Given the description of an element on the screen output the (x, y) to click on. 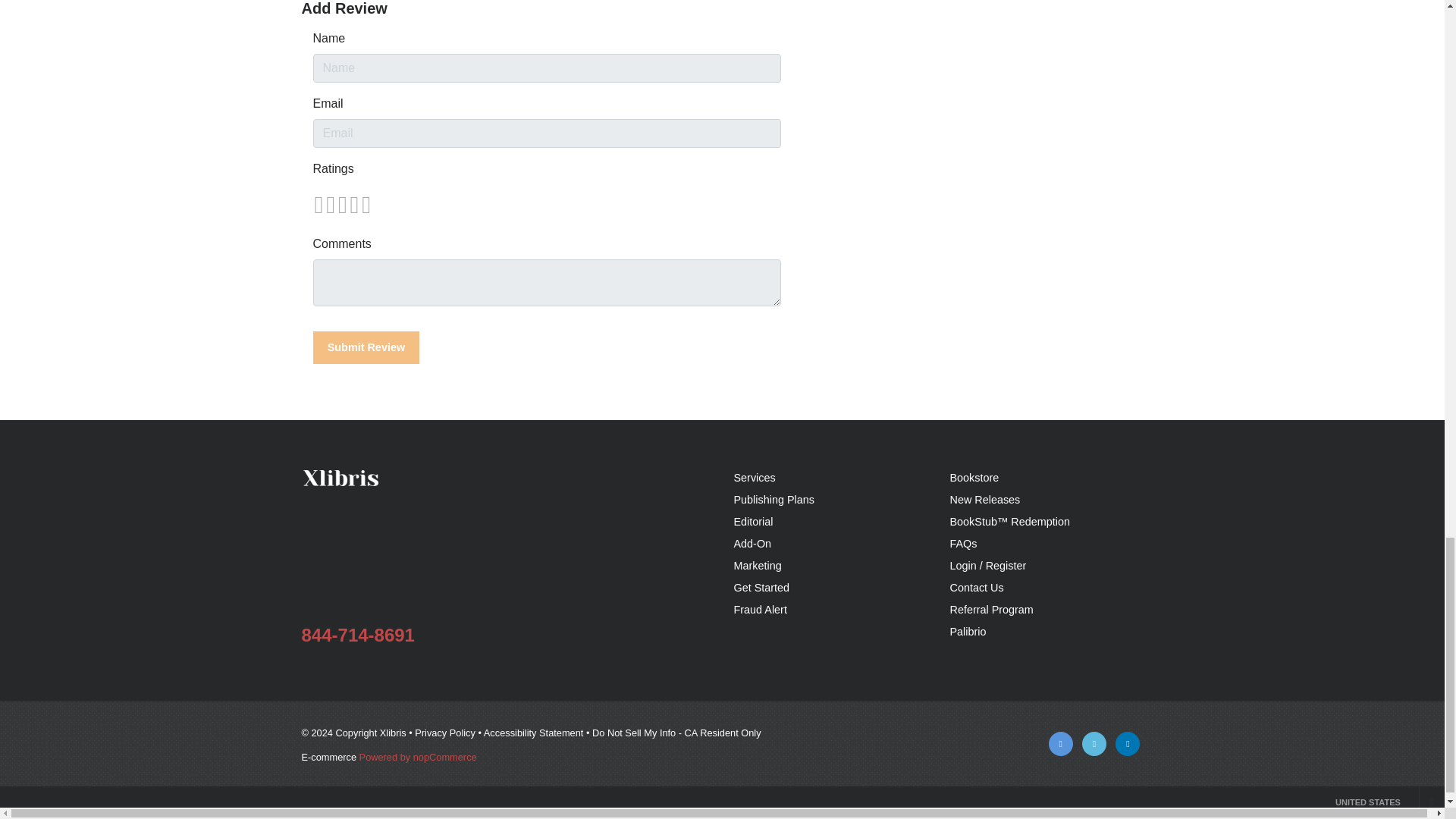
Submit Review (366, 347)
844-714-8691 (357, 634)
Submit Review (366, 347)
Add-On (752, 543)
Services (754, 477)
Fraud Alert (760, 609)
Not Rated (342, 204)
Publishing Plans (773, 499)
Bookstore (973, 477)
FAQs (962, 543)
New Releases (984, 499)
Get Started (761, 587)
Marketing (757, 565)
Editorial (753, 521)
Contact Us (976, 587)
